Given the description of an element on the screen output the (x, y) to click on. 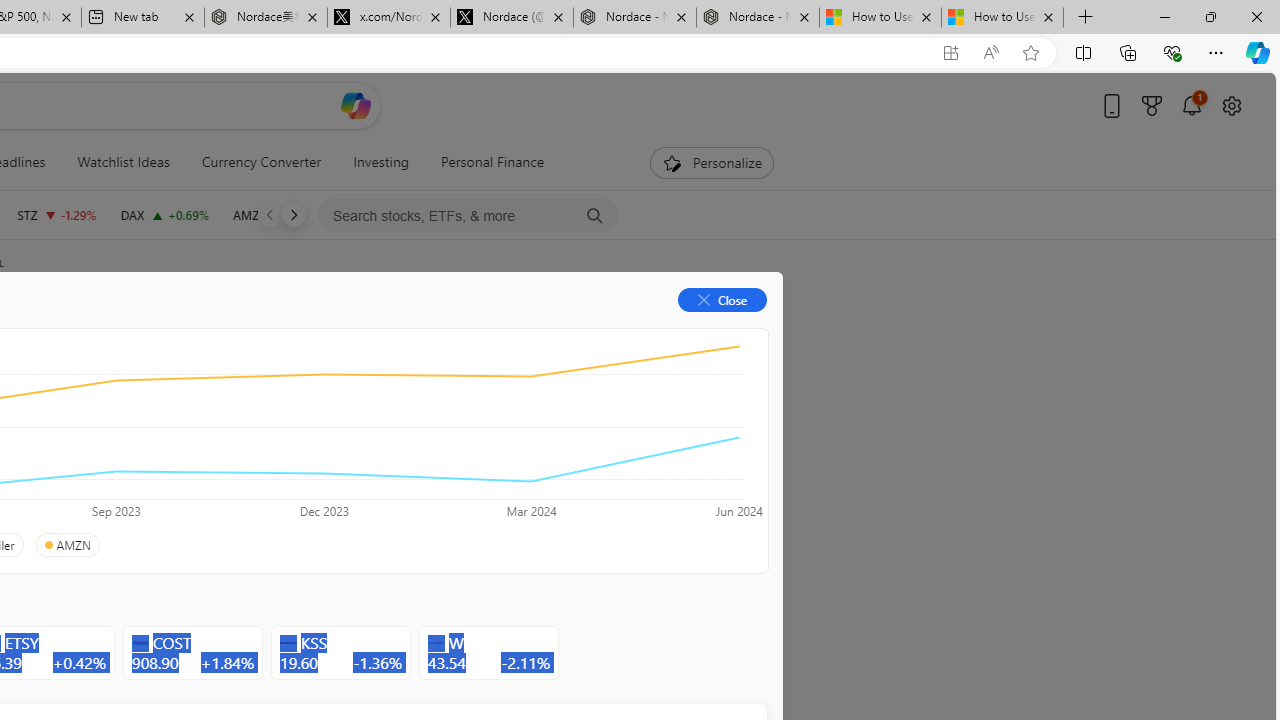
How to Use a Monitor With Your Closed Laptop (1002, 17)
Analysis (305, 331)
Summary (107, 331)
Investing (381, 162)
AMZN (66, 545)
AMZN AMAZON.COM, INC. decrease 173.12 -2.38 -1.36% (280, 214)
DAX DAX increase 18,811.34 +129.53 +0.69% (164, 214)
Watchlist Ideas (123, 162)
Currency Converter (261, 162)
Open settings (1231, 105)
